Given the description of an element on the screen output the (x, y) to click on. 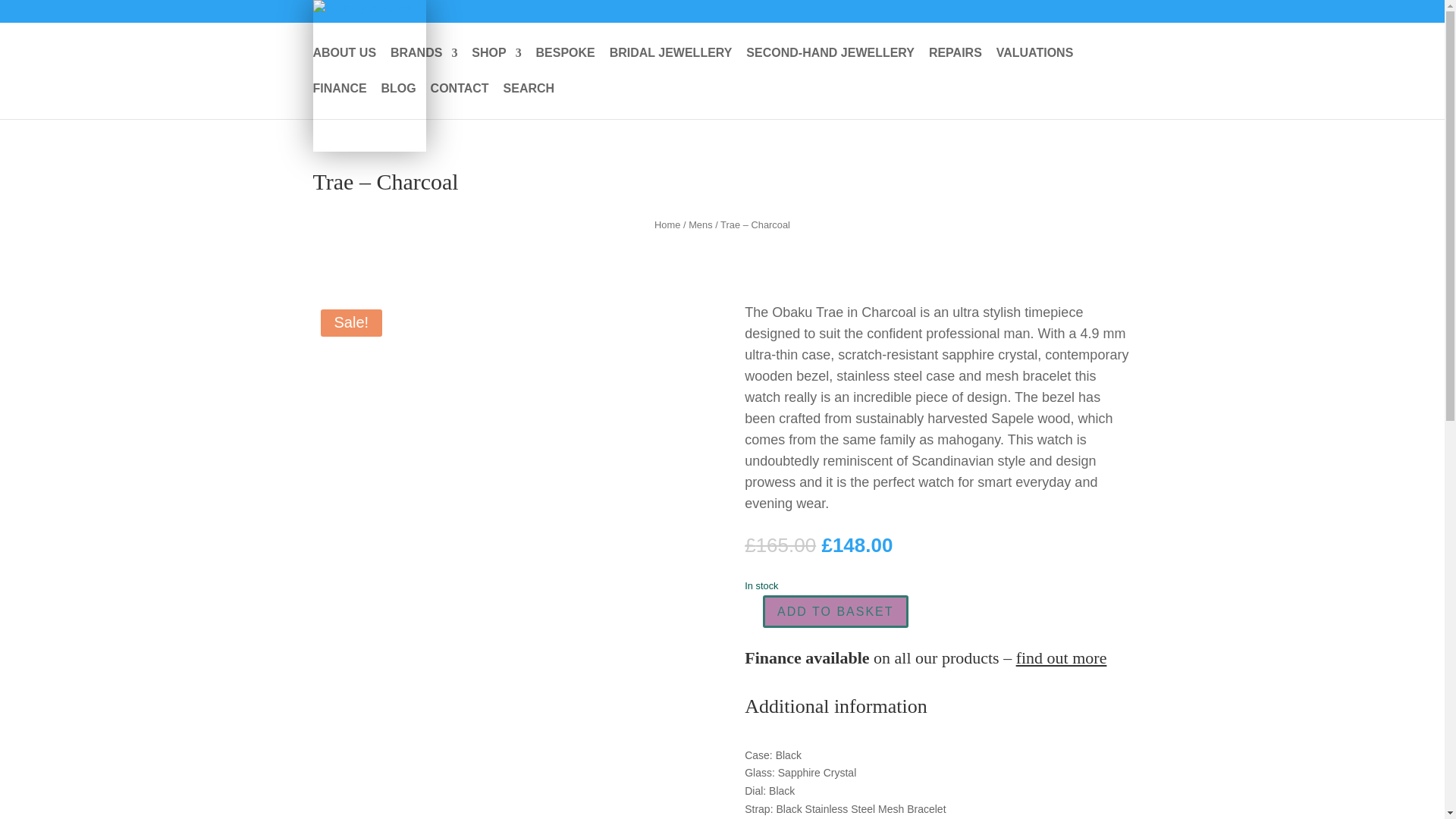
BRANDS (423, 65)
SEARCH (528, 100)
01604 629787 (938, 31)
Home (666, 224)
FINANCE (339, 100)
REPAIRS (954, 65)
0 Items (1104, 26)
BESPOKE (565, 65)
EMAIL US (861, 31)
MY ACCOUNT (1027, 31)
SHOP (496, 65)
BRIDAL JEWELLERY (671, 65)
BLOG (397, 100)
Mens (699, 224)
ABOUT US (344, 65)
